Given the description of an element on the screen output the (x, y) to click on. 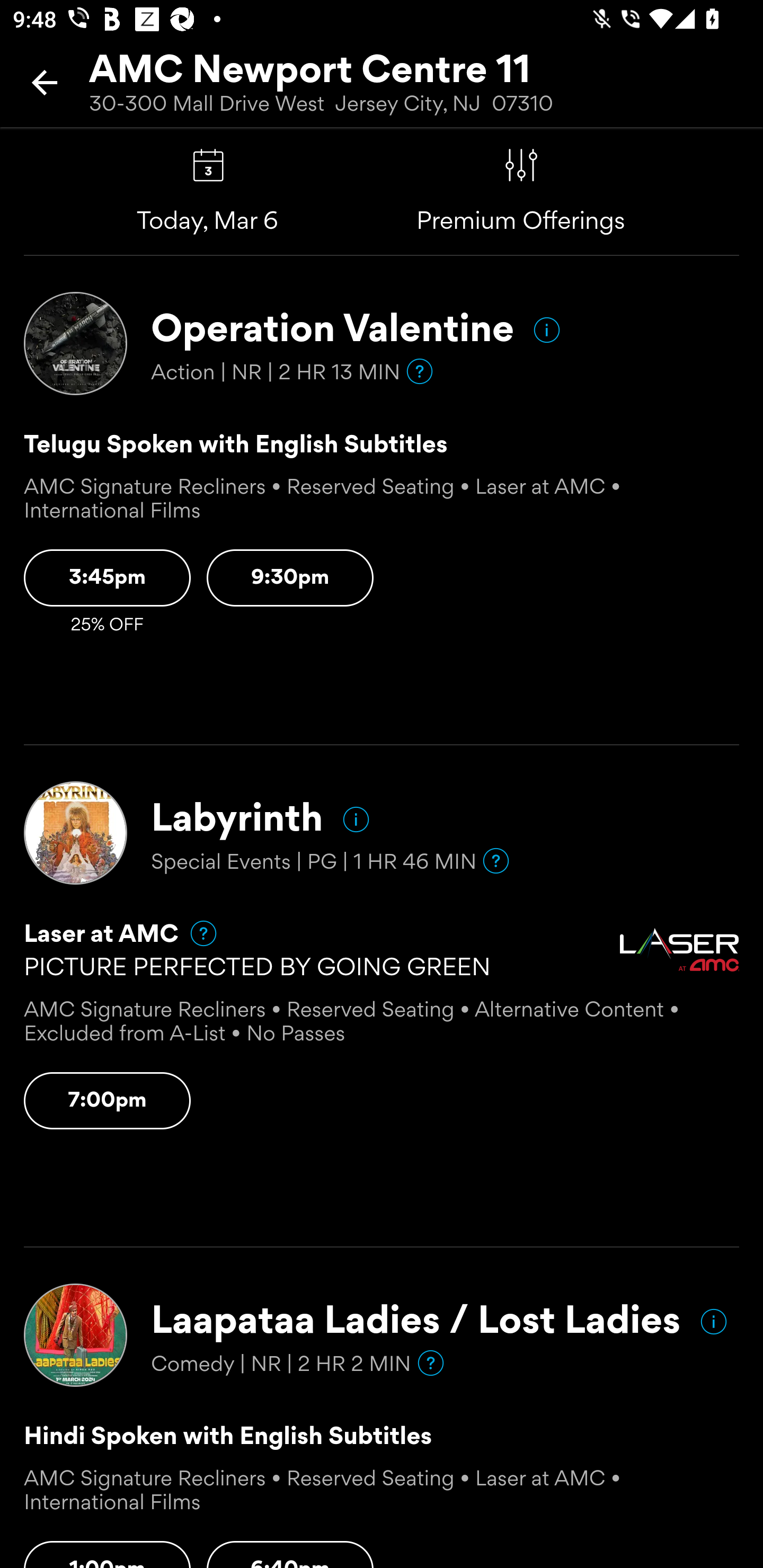
Back (44, 82)
Change selected day (208, 165)
Premium Offerings (520, 165)
Info (547, 329)
Help (419, 371)
Info (356, 818)
Help (495, 860)
Help (195, 932)
Info (713, 1321)
Help (431, 1362)
